Given the description of an element on the screen output the (x, y) to click on. 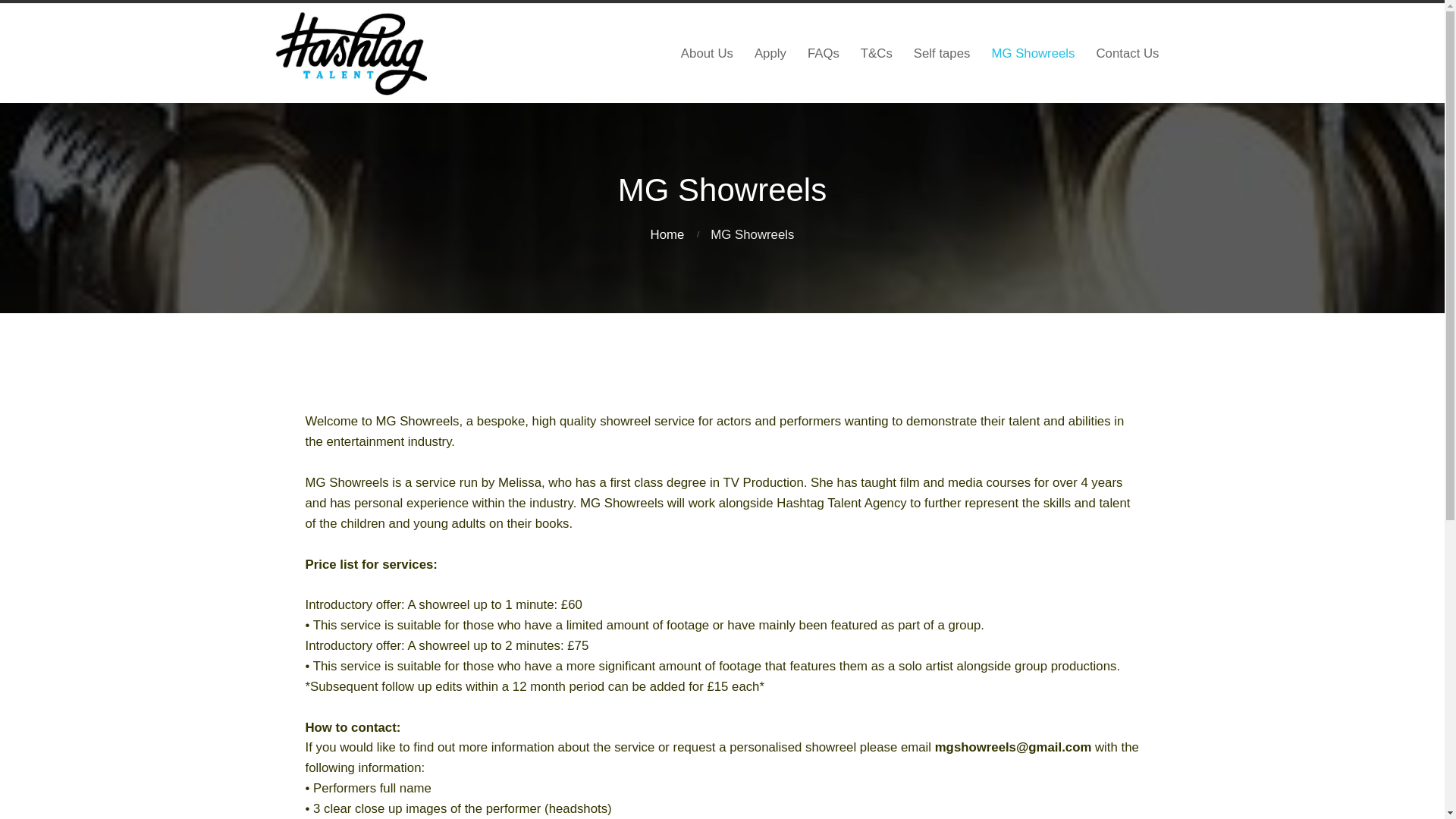
MG Showreels (1031, 53)
Contact Us (1126, 53)
FAQs (823, 53)
Home (667, 234)
Self tapes (941, 53)
Apply (770, 53)
About Us (706, 53)
